Given the description of an element on the screen output the (x, y) to click on. 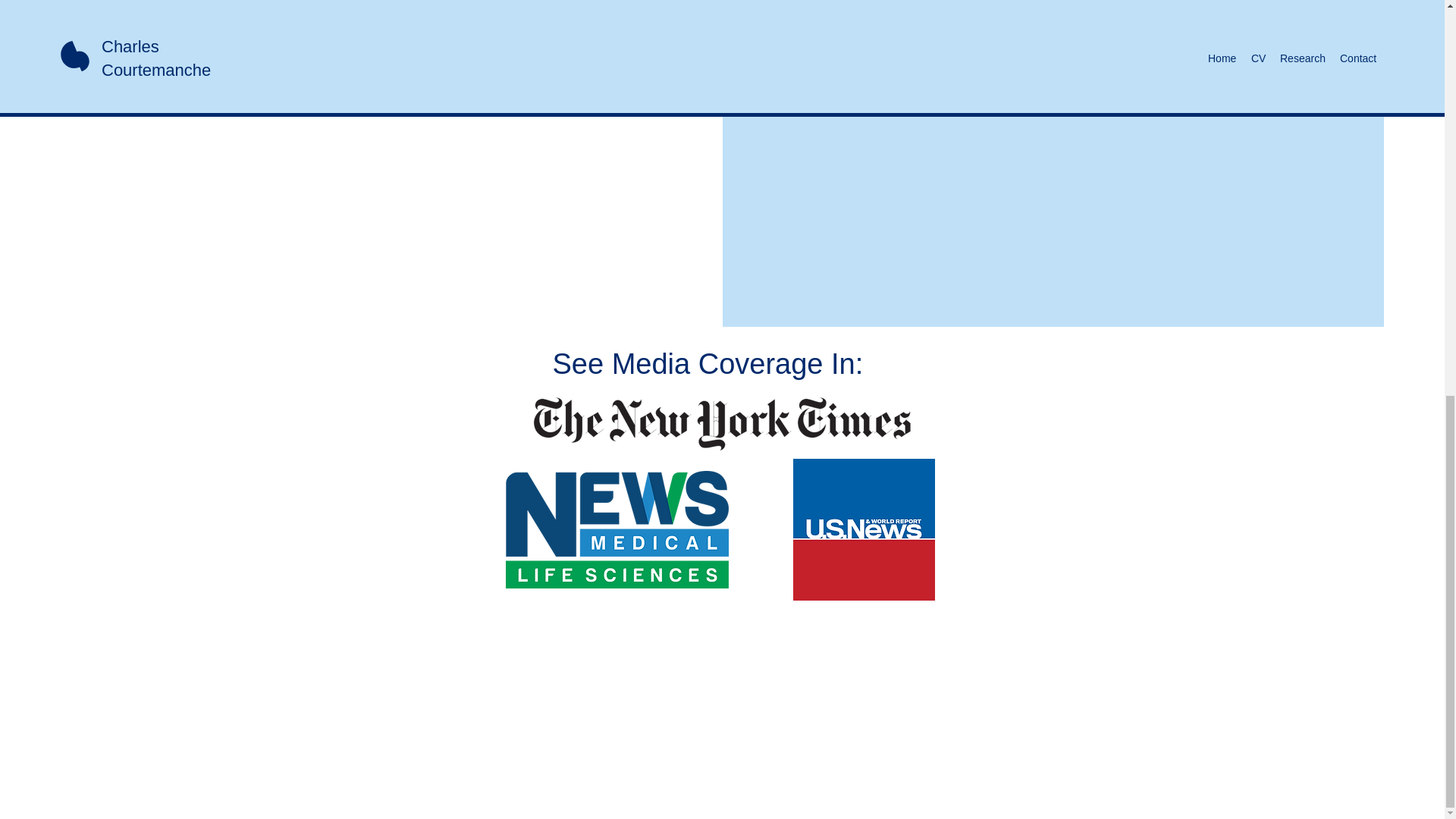
NBER (341, 24)
IZA (440, 24)
News Medical logo.png (616, 529)
US News logo.png (863, 529)
